Given the description of an element on the screen output the (x, y) to click on. 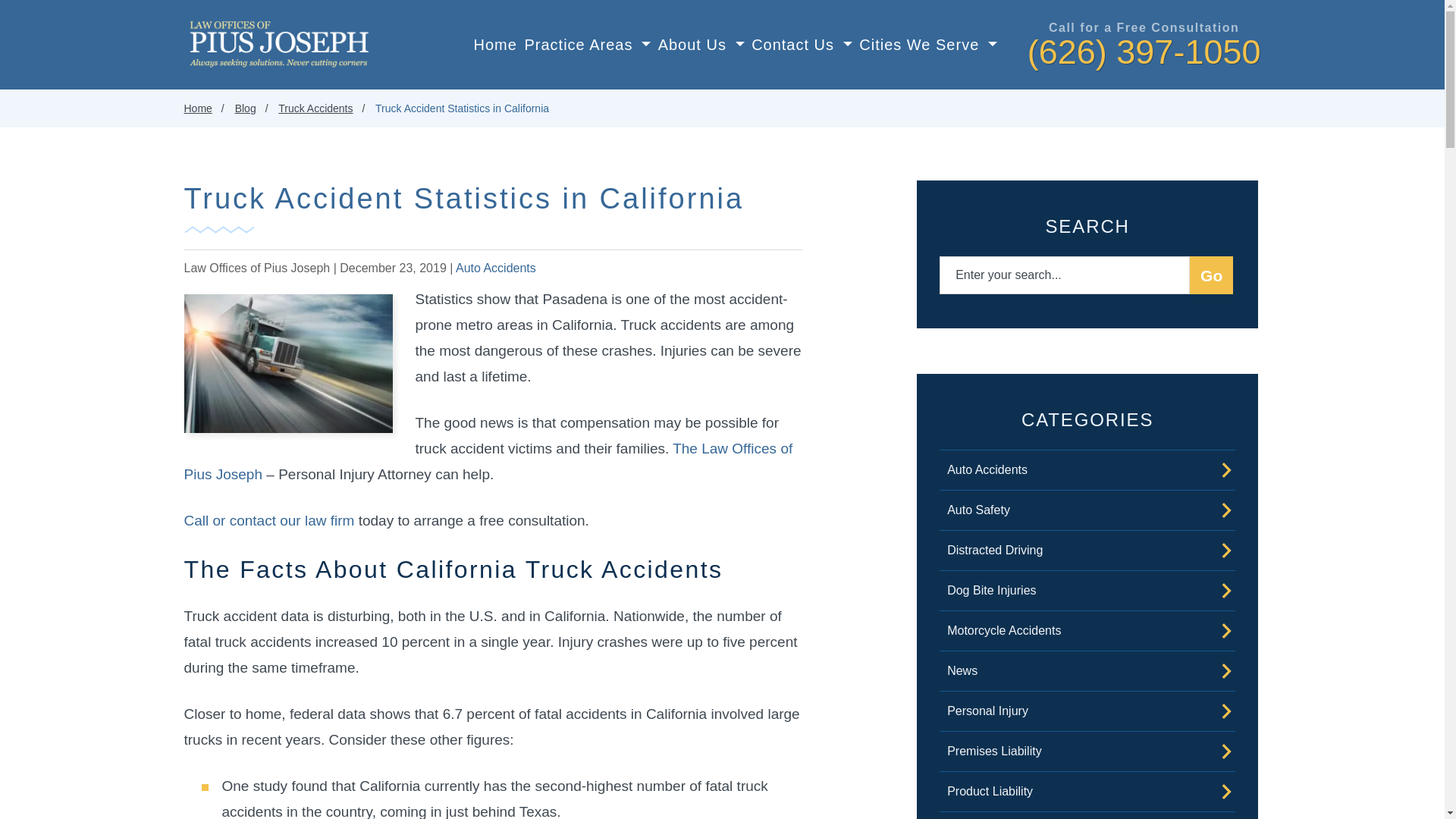
Practice Areas (587, 48)
Go (1211, 275)
Practice Areas (587, 48)
Home (495, 48)
Cities We Serve (928, 48)
Contact Us (801, 48)
About Us (701, 48)
Home (495, 48)
